Given the description of an element on the screen output the (x, y) to click on. 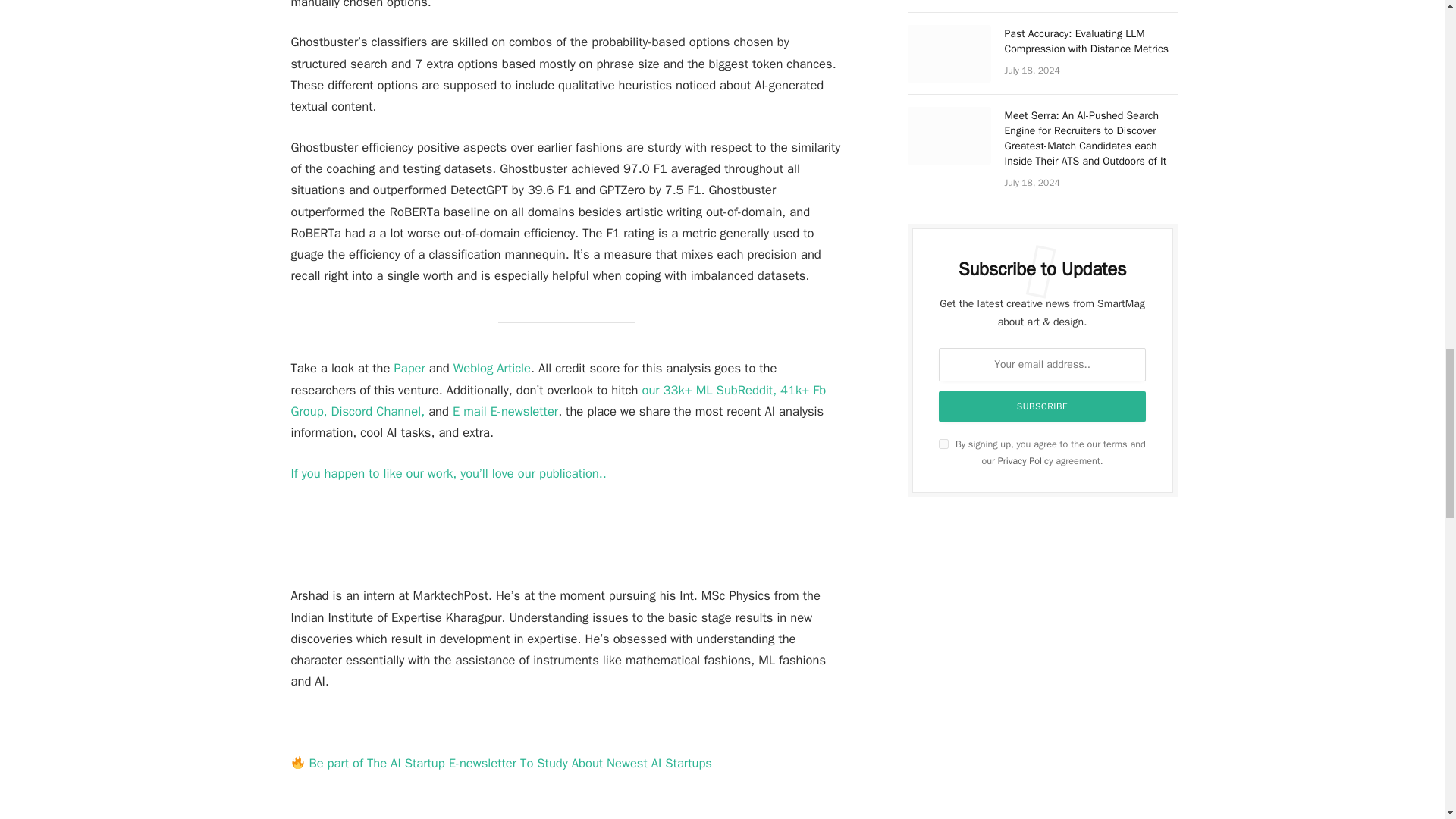
Subscribe (1043, 406)
on (944, 443)
